Given the description of an element on the screen output the (x, y) to click on. 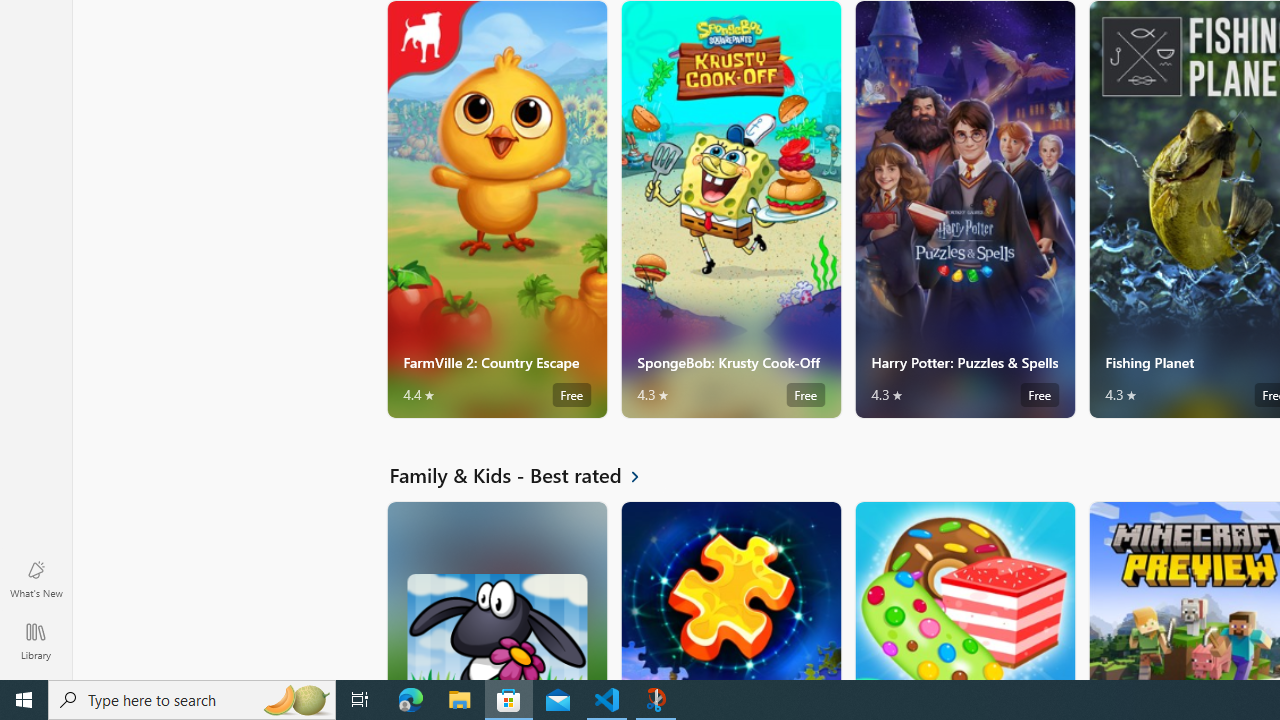
See all  Family & Kids - Best rated (526, 475)
